Given the description of an element on the screen output the (x, y) to click on. 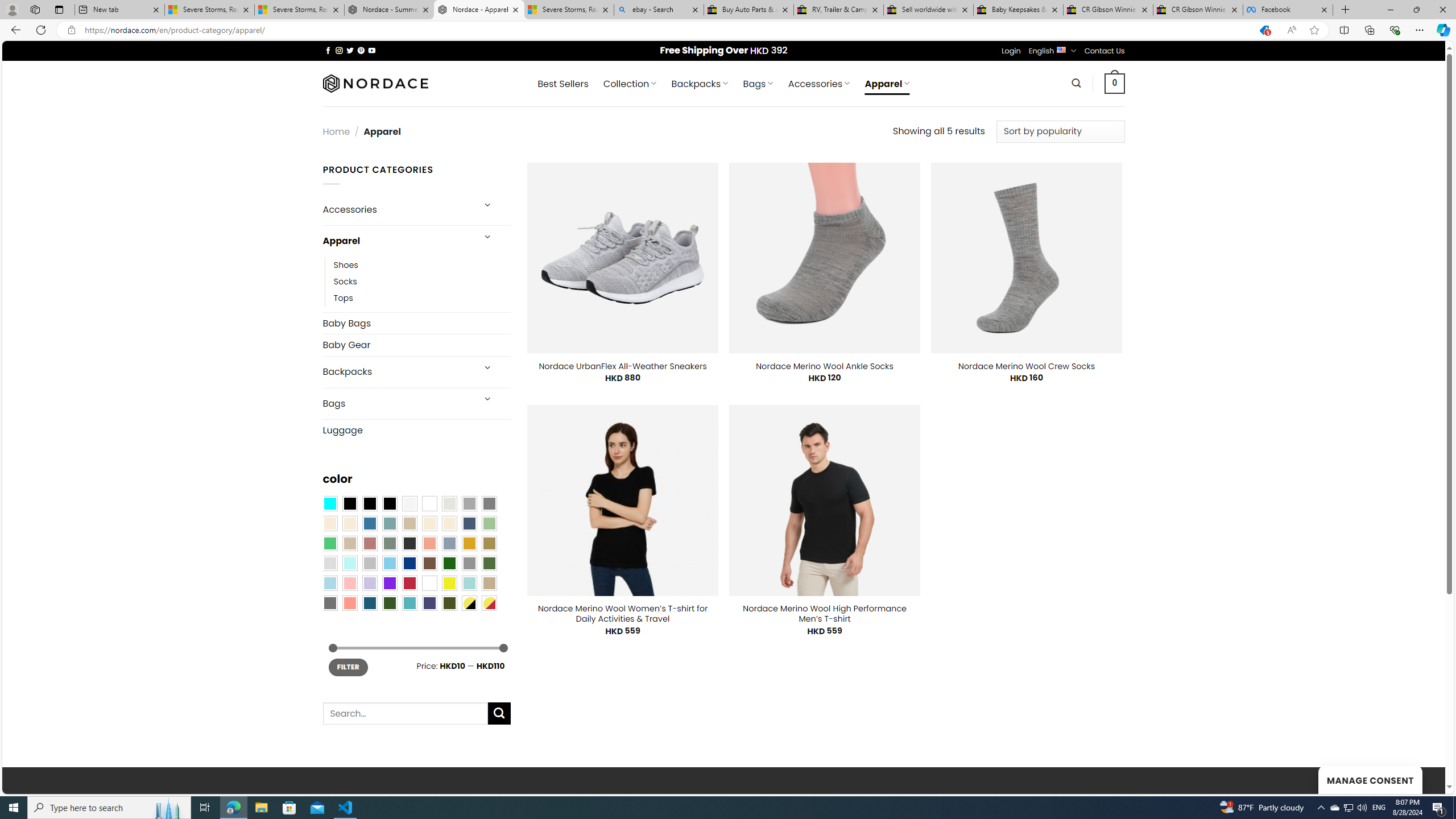
Search for: (404, 712)
Buy Auto Parts & Accessories | eBay (747, 9)
Capri Blue (369, 602)
Luggage (416, 430)
Brown (429, 562)
Khaki (488, 582)
FILTER (347, 667)
Dark Gray (468, 503)
Light Gray (329, 562)
Tops (422, 297)
All Gray (488, 503)
Teal (408, 602)
